Given the description of an element on the screen output the (x, y) to click on. 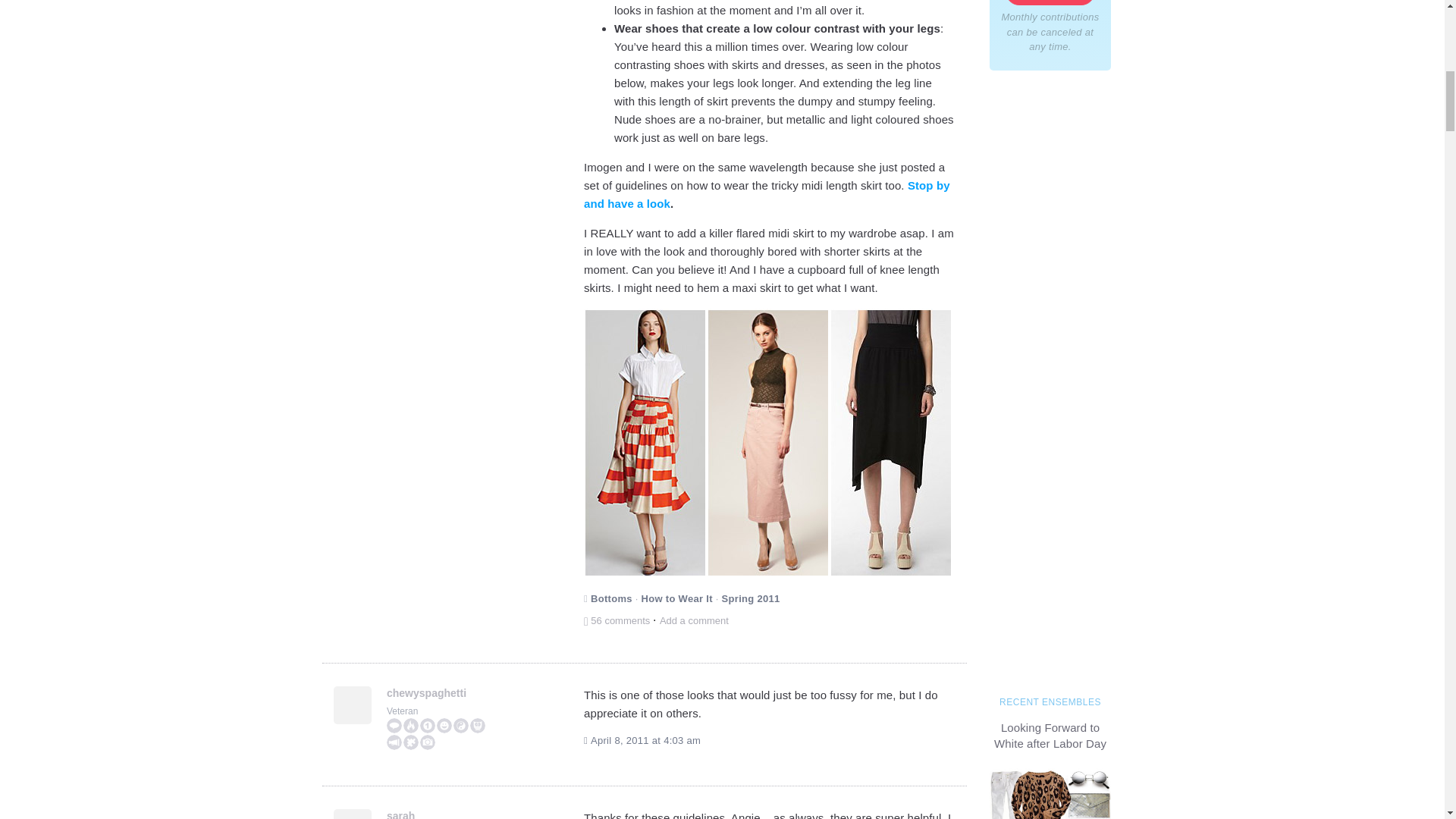
Marc By Marc Jacobs "Bella" Striped High-Waisted Skirt (644, 442)
Comedian (443, 725)
Catalyst (411, 725)
The Furies Katsu Skirt (890, 442)
Spring 2011 (751, 598)
Therapist (460, 725)
Helper (427, 725)
Wiseowl (477, 725)
CONTRIBUTE (1050, 2)
Bottoms (611, 598)
Cheerleader (394, 742)
56 comments (617, 620)
Stop by and have a look (766, 194)
How to Wear It (677, 598)
Add a comment (694, 620)
